Given the description of an element on the screen output the (x, y) to click on. 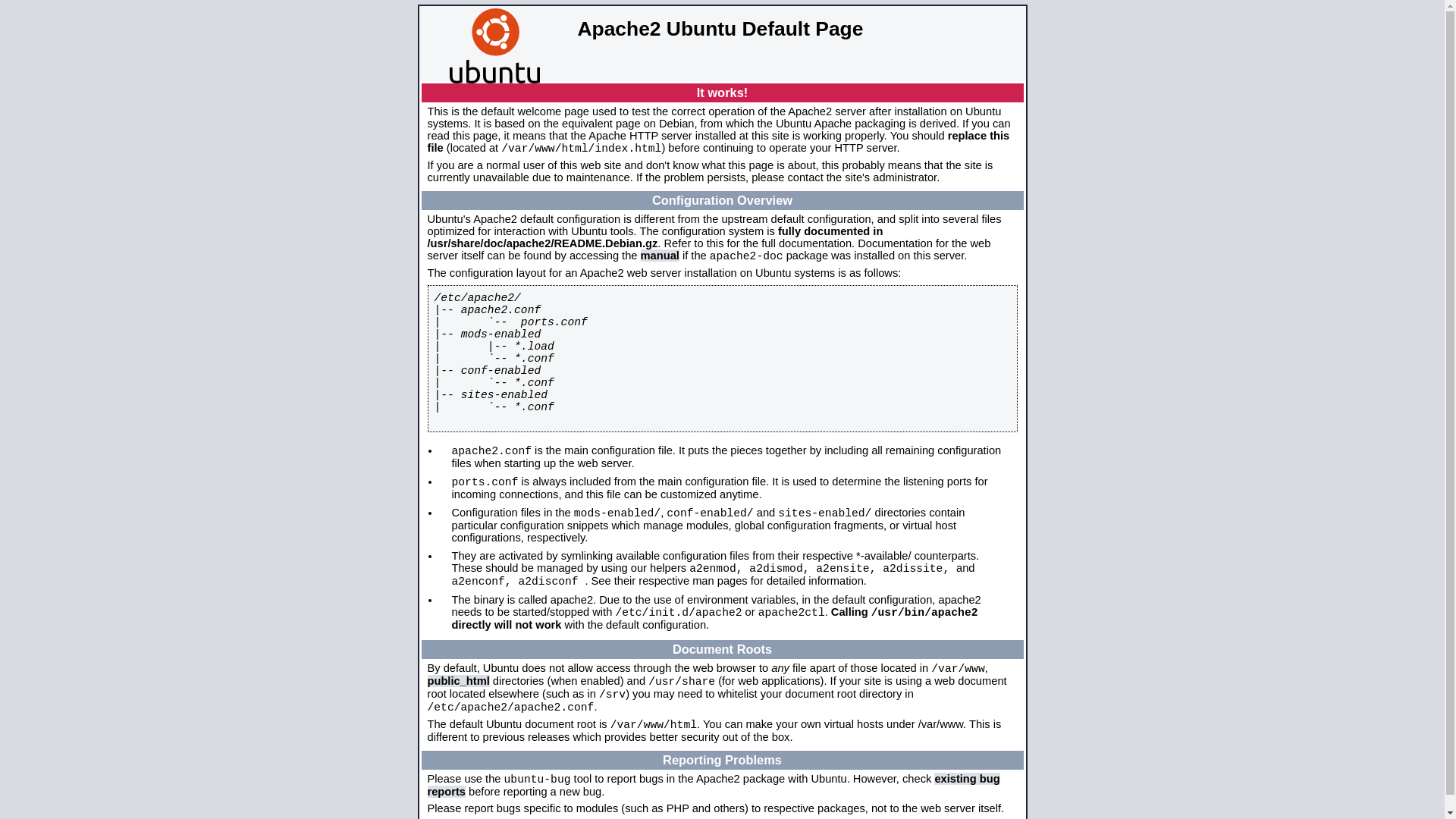
existing bug reports Element type: text (713, 784)
public_html Element type: text (458, 680)
manual Element type: text (659, 255)
